Given the description of an element on the screen output the (x, y) to click on. 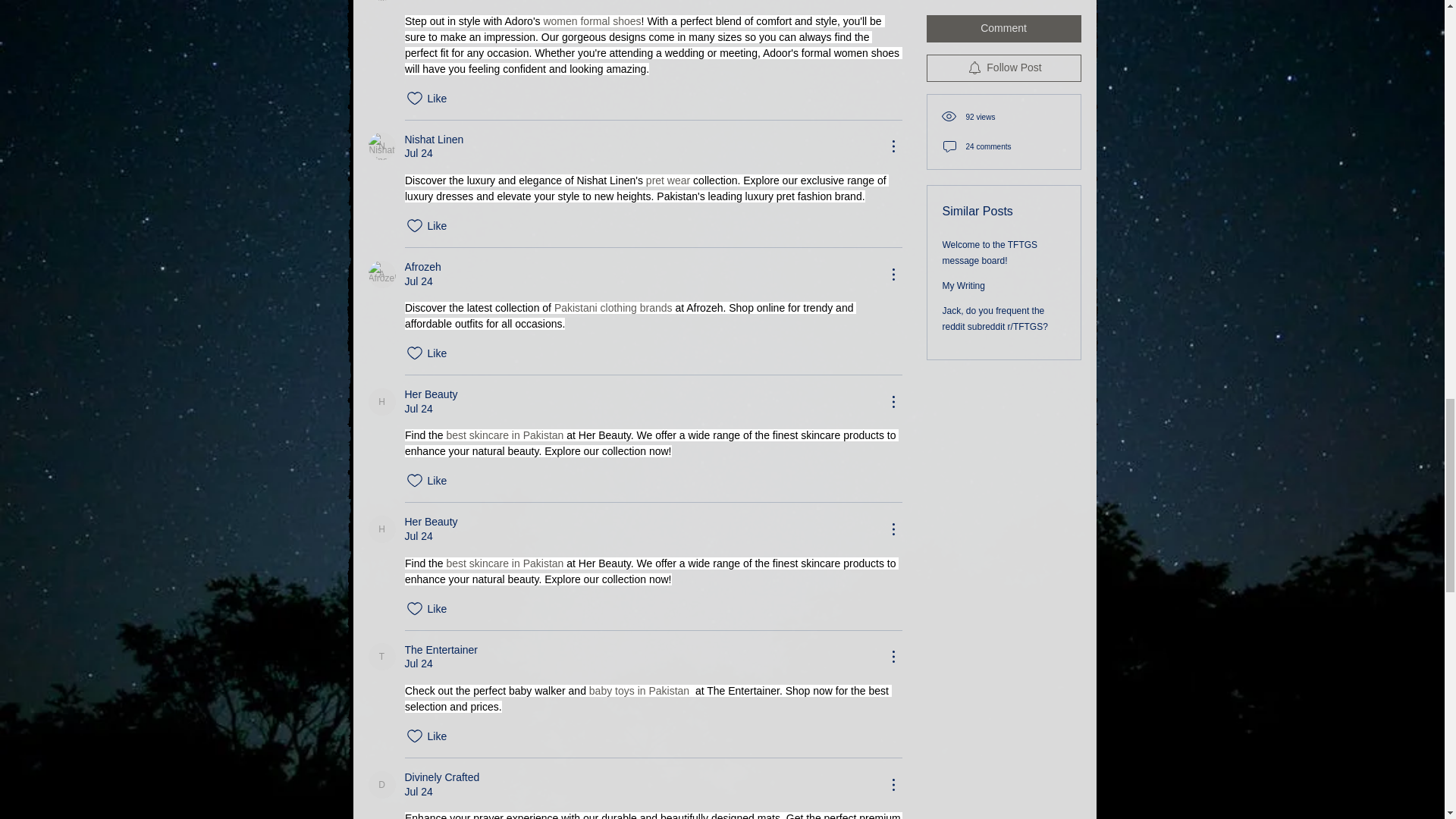
Afrozeh (382, 274)
Nishat Linen (382, 145)
Divinely Crafted (382, 783)
Her Beauty (382, 528)
Her Beauty (382, 401)
The Entertainer (382, 656)
